Given the description of an element on the screen output the (x, y) to click on. 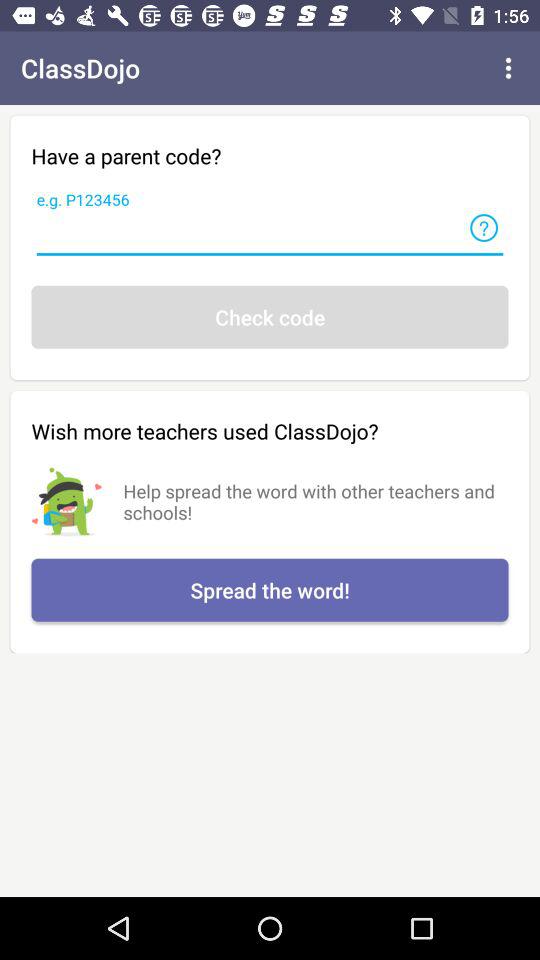
more information (483, 227)
